Given the description of an element on the screen output the (x, y) to click on. 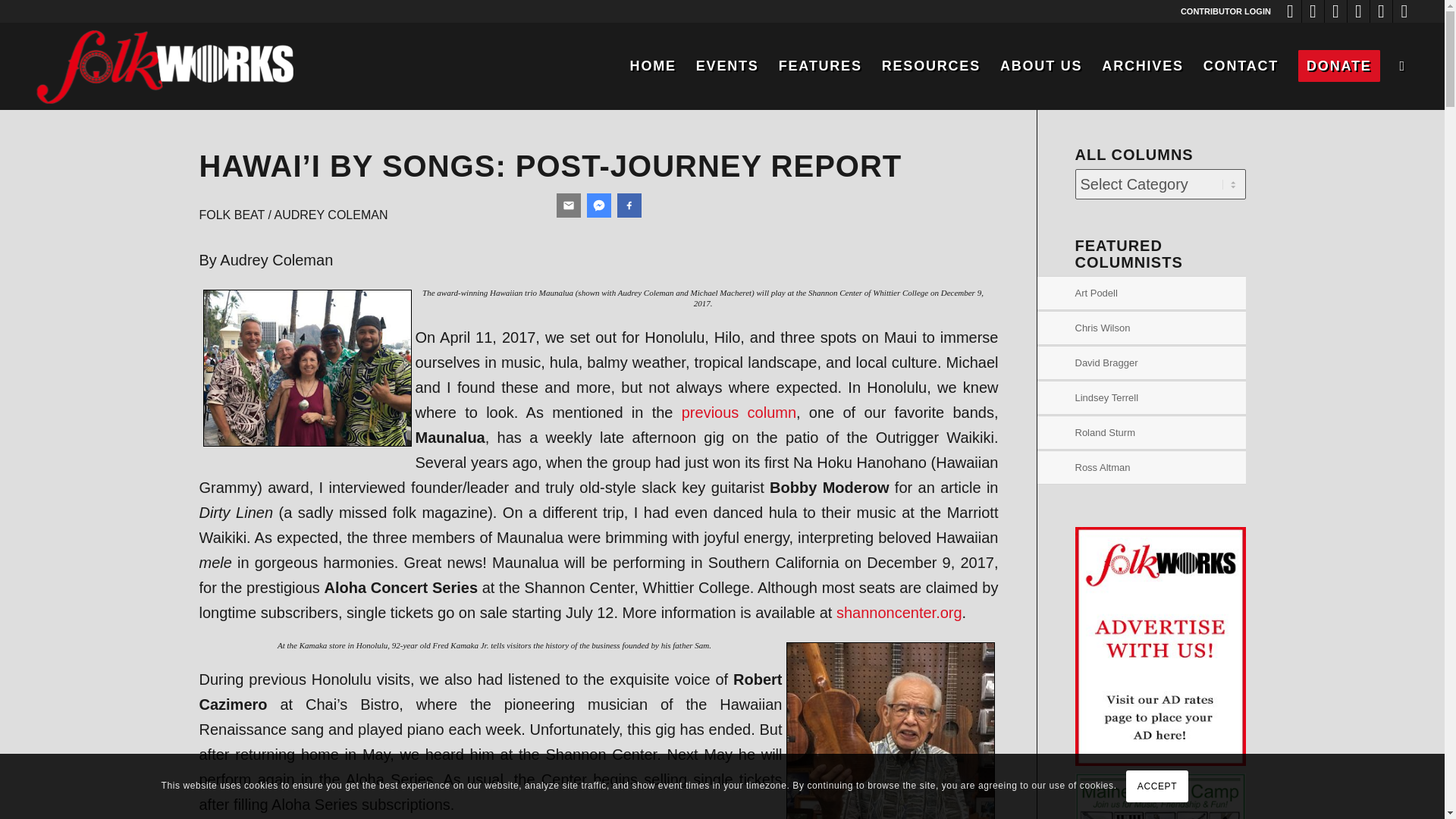
Youtube (1312, 11)
previous column (738, 412)
Art Podell (1160, 293)
shannoncenter.org (898, 612)
Facebook (1290, 11)
CONTACT (1240, 65)
Ross Altman (1160, 468)
X (1359, 11)
FolkWorks logo large (164, 65)
Instagram (1335, 11)
RESOURCES (931, 65)
Mail (1404, 11)
CONTRIBUTOR LOGIN (1225, 10)
David Bragger (1160, 363)
EVENTS (726, 65)
